Given the description of an element on the screen output the (x, y) to click on. 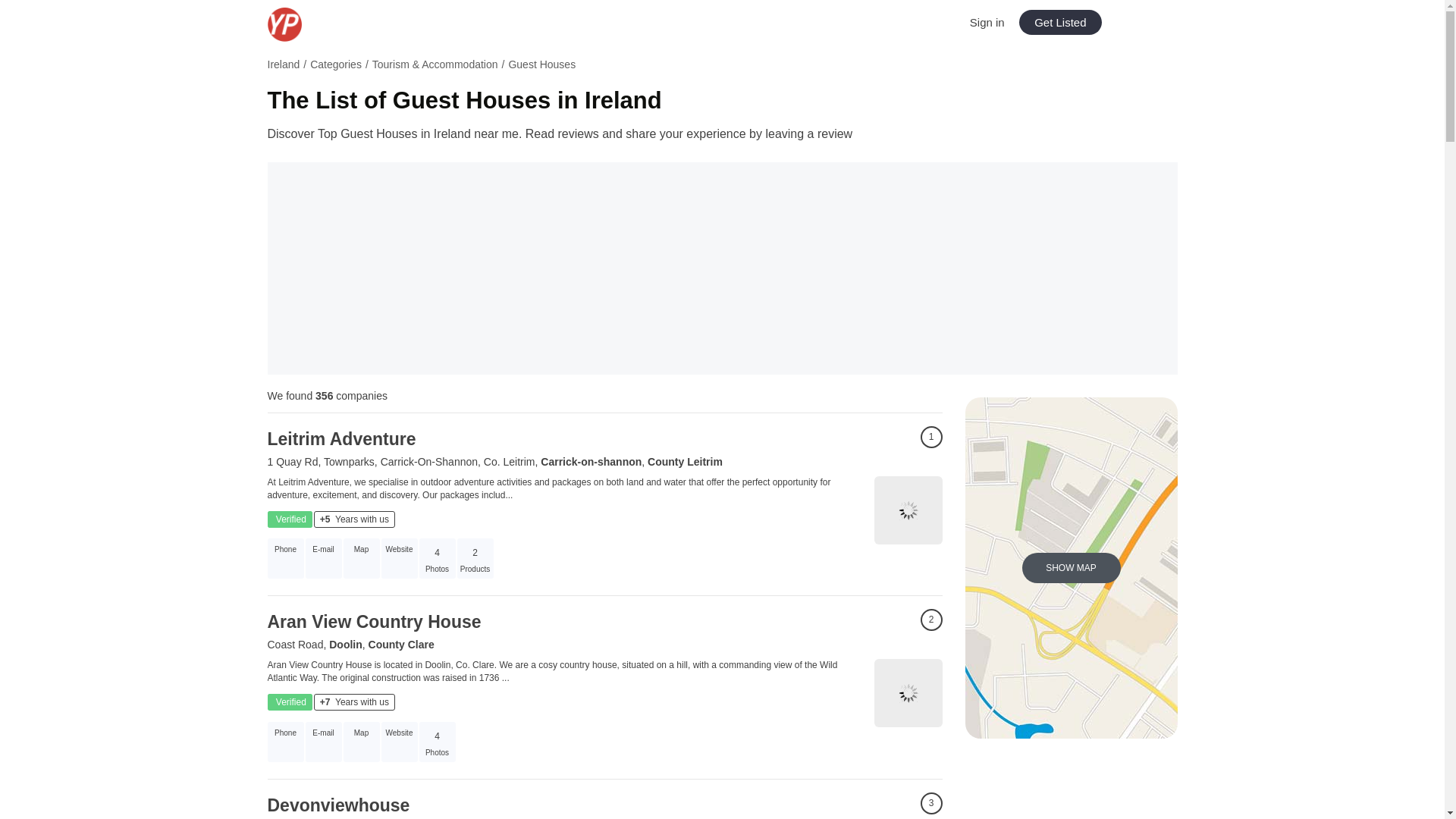
County Clare (400, 644)
Get Listed (1059, 22)
Leitrim Adventure (340, 438)
Leitrim Adventure (340, 438)
Categories (335, 64)
Companies in Carrick-on-shannon (591, 461)
Aran View Country House (373, 621)
Doolin (345, 644)
Devonviewhouse (337, 804)
Ireland Business Directory - IrelandYP (319, 24)
